Given the description of an element on the screen output the (x, y) to click on. 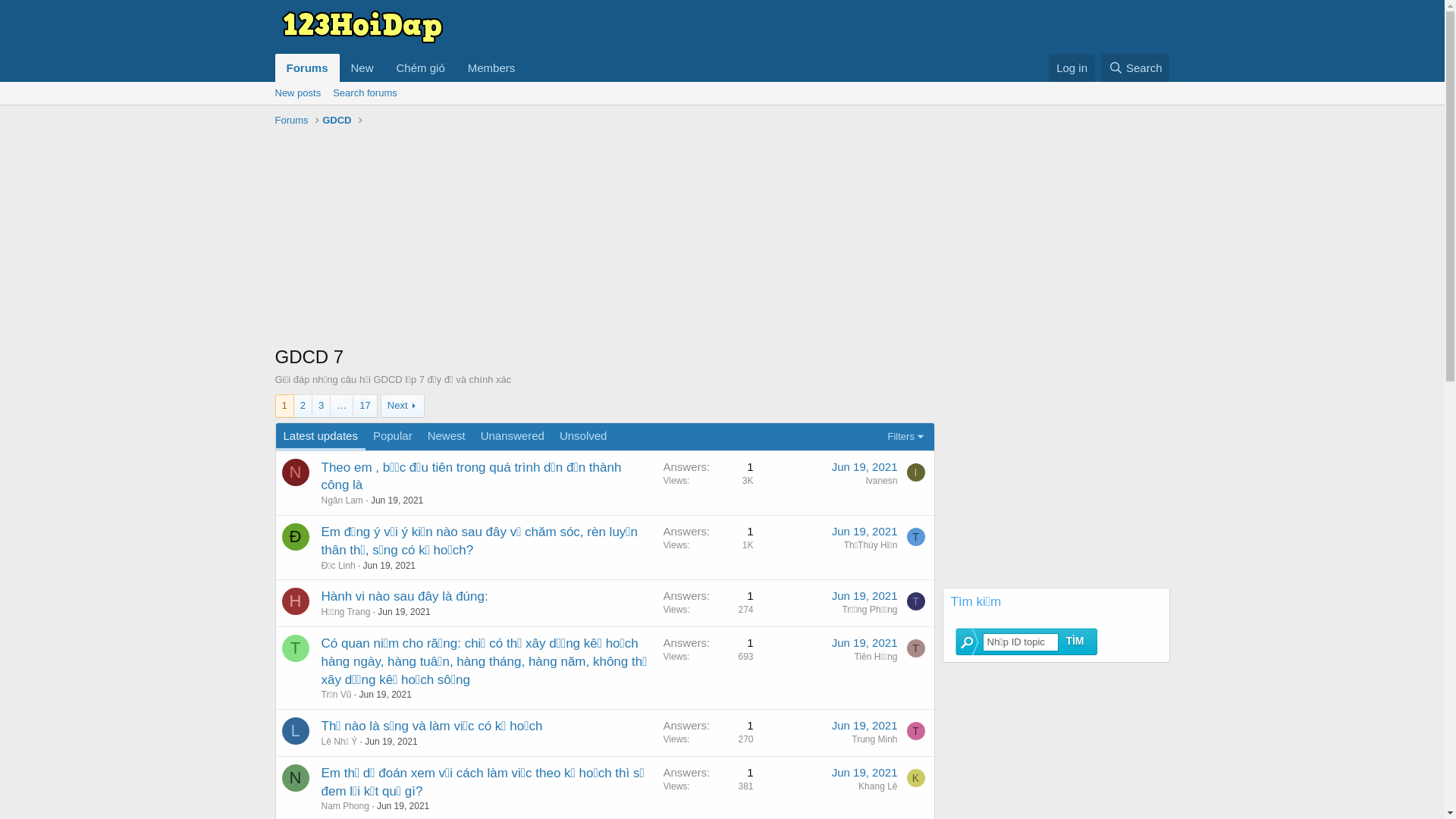
I Element type: text (915, 472)
Jun 19, 2021 Element type: text (402, 805)
T Element type: text (915, 601)
Jun 19, 2021 Element type: text (864, 724)
Jun 19, 2021 Element type: text (384, 694)
17 Element type: text (364, 405)
Next Element type: text (402, 405)
Filters Element type: text (907, 436)
Unsolved Element type: text (583, 436)
T Element type: text (915, 648)
Jun 19, 2021 Element type: text (403, 611)
Latest updates Element type: text (320, 436)
Log in Element type: text (1071, 67)
Forums Element type: text (290, 120)
New Element type: text (362, 67)
1 Element type: text (284, 405)
Popular Element type: text (392, 436)
Jun 19, 2021 Element type: text (864, 771)
N Element type: text (295, 472)
Trung Minh Element type: text (874, 739)
Members Element type: text (491, 67)
Jun 19, 2021 Element type: text (864, 530)
T Element type: text (915, 536)
Search Element type: text (1135, 67)
GDCD Element type: text (336, 120)
H Element type: text (295, 601)
Jun 19, 2021 Element type: text (864, 642)
K Element type: text (915, 777)
Newest Element type: text (446, 436)
2 Element type: text (302, 405)
Forums Element type: text (306, 67)
N Element type: text (295, 777)
Jun 19, 2021 Element type: text (389, 565)
Ivanesn Element type: text (881, 480)
3 Element type: text (320, 405)
Nam Phong Element type: text (345, 805)
T Element type: text (295, 648)
Jun 19, 2021 Element type: text (390, 741)
Jun 19, 2021 Element type: text (864, 466)
Advertisement Element type: hover (721, 237)
Search forums Element type: text (364, 92)
Unanswered Element type: text (512, 436)
L Element type: text (295, 730)
Advertisement Element type: hover (1055, 488)
Jun 19, 2021 Element type: text (396, 500)
Jun 19, 2021 Element type: text (864, 595)
T Element type: text (915, 730)
New posts Element type: text (297, 92)
